Given the description of an element on the screen output the (x, y) to click on. 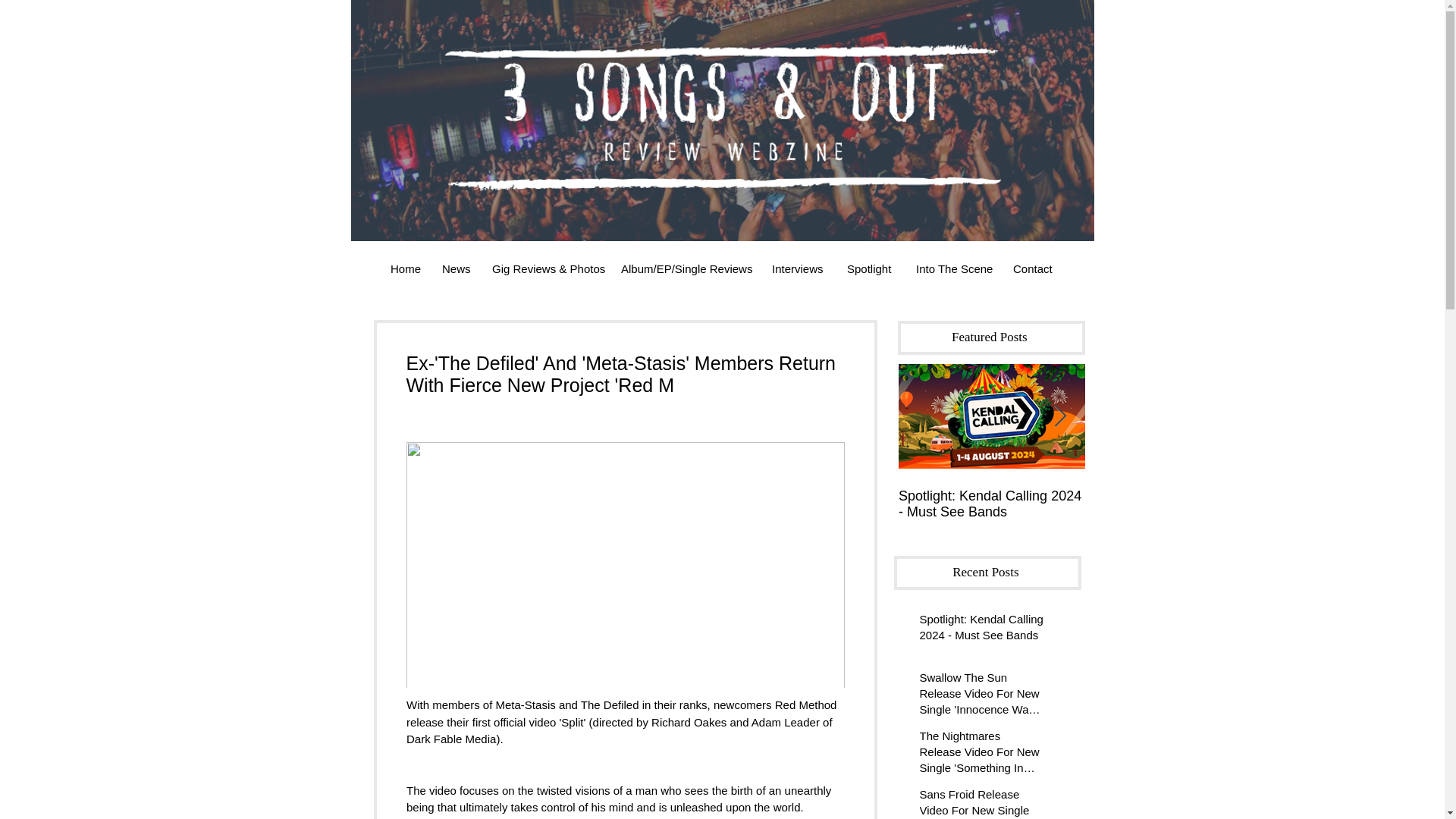
Spotlight (869, 268)
Into The Scene (952, 268)
Home (404, 268)
Sans Froid Release Video For New Single 'Gammons' (980, 802)
Interviews (797, 268)
Spotlight: Kendal Calling 2024 - Must See Bands (980, 629)
News (455, 268)
Spotlight: Kendal Calling 2024 - Must See Bands (991, 504)
Contact (1032, 268)
